Given the description of an element on the screen output the (x, y) to click on. 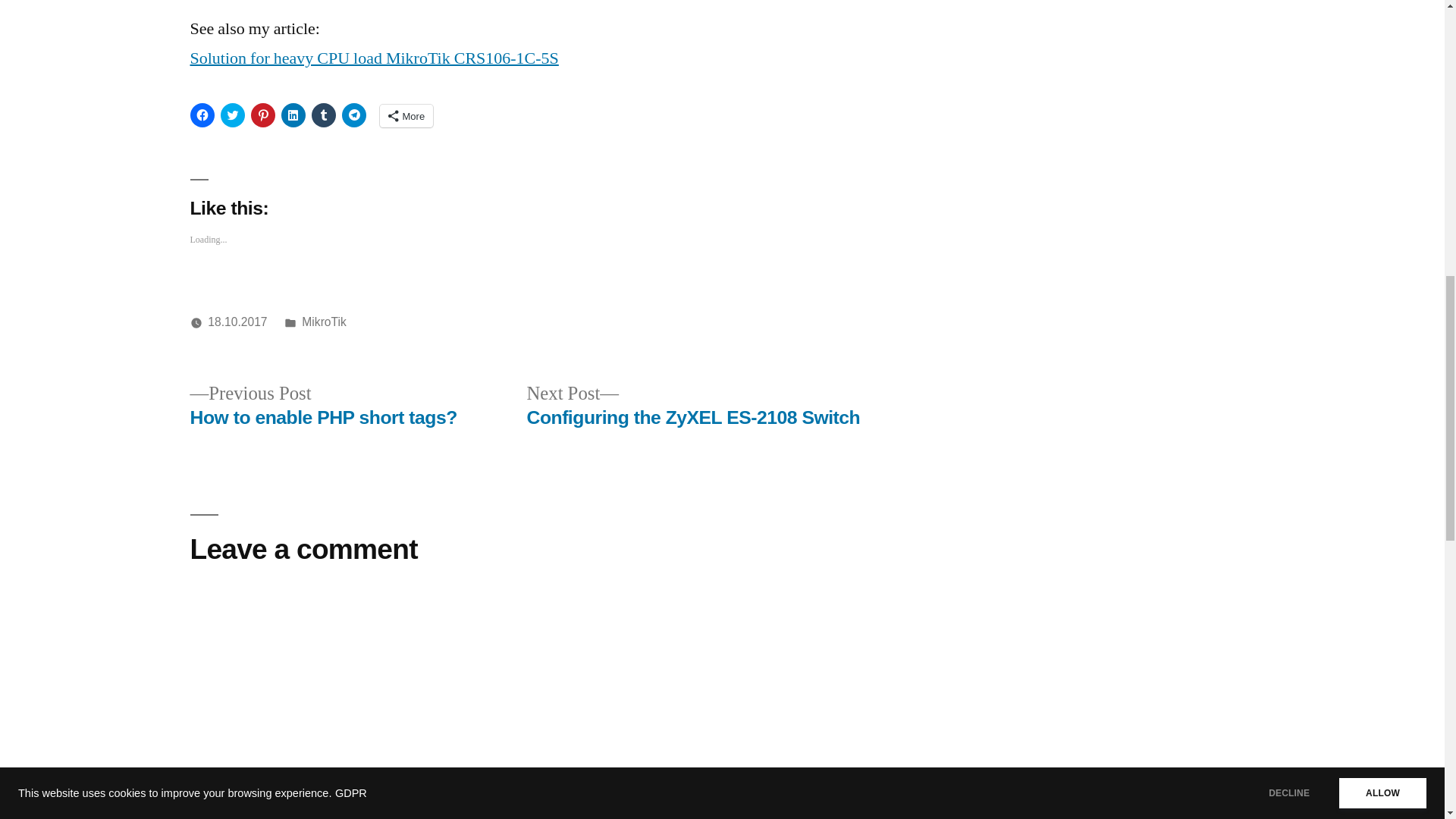
MikroTik (323, 321)
18.10.2017 (237, 321)
Click to share on Telegram (692, 405)
Click to share on Facebook (352, 115)
More (323, 405)
Solution for heavy CPU load MikroTik CRS106-1C-5S (201, 115)
Click to share on LinkedIn (405, 115)
Click to share on Pinterest (373, 57)
